Given the description of an element on the screen output the (x, y) to click on. 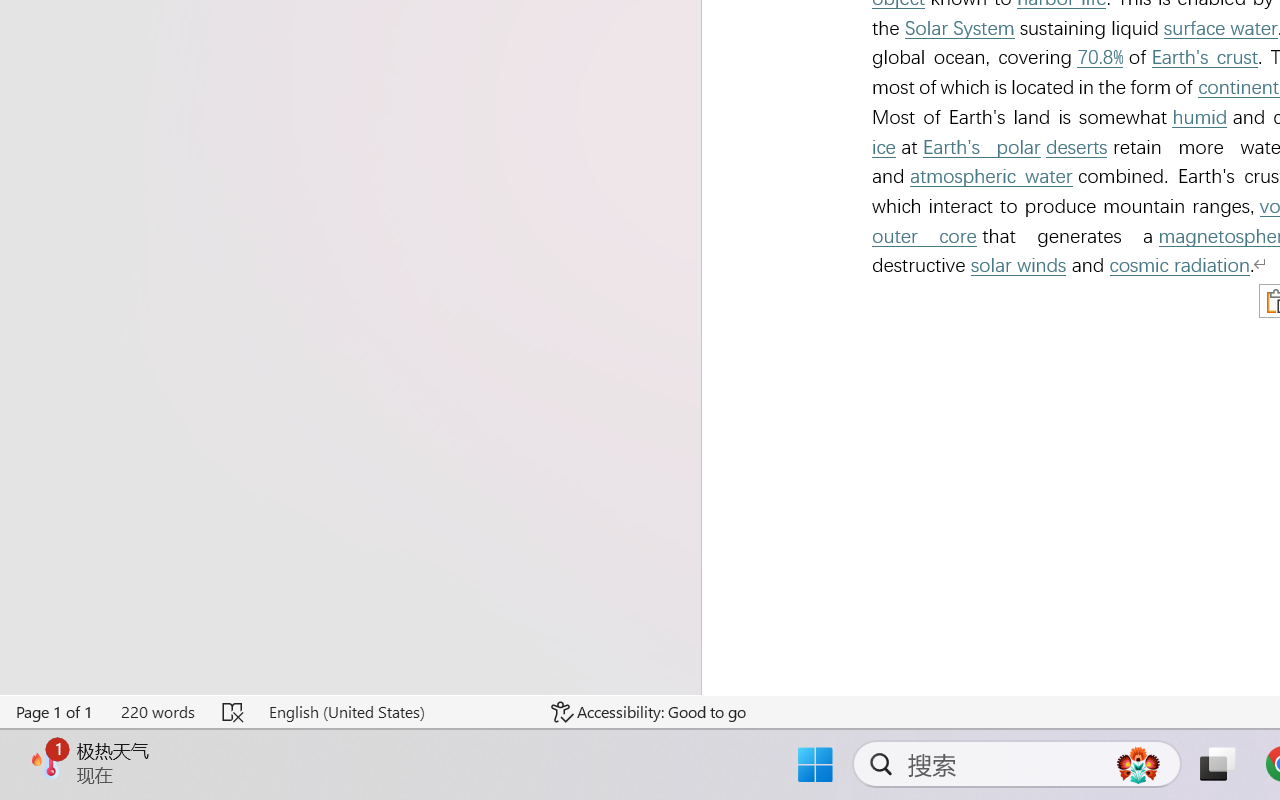
Earth's polar (981, 147)
70.8% (1099, 57)
